Given the description of an element on the screen output the (x, y) to click on. 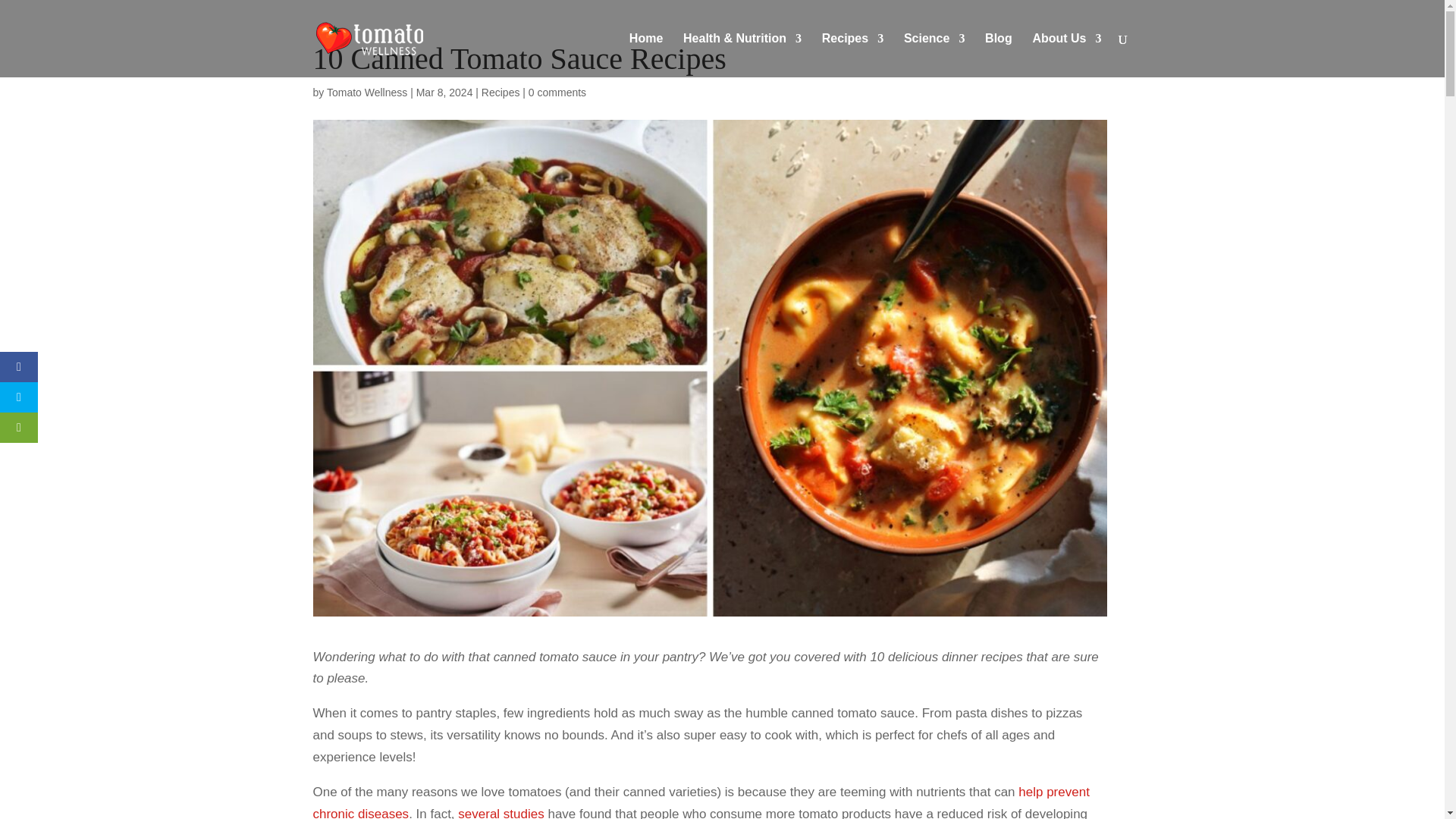
Posts by Tomato Wellness (366, 92)
About Us (1066, 54)
Recipes (852, 54)
Science (933, 54)
